Given the description of an element on the screen output the (x, y) to click on. 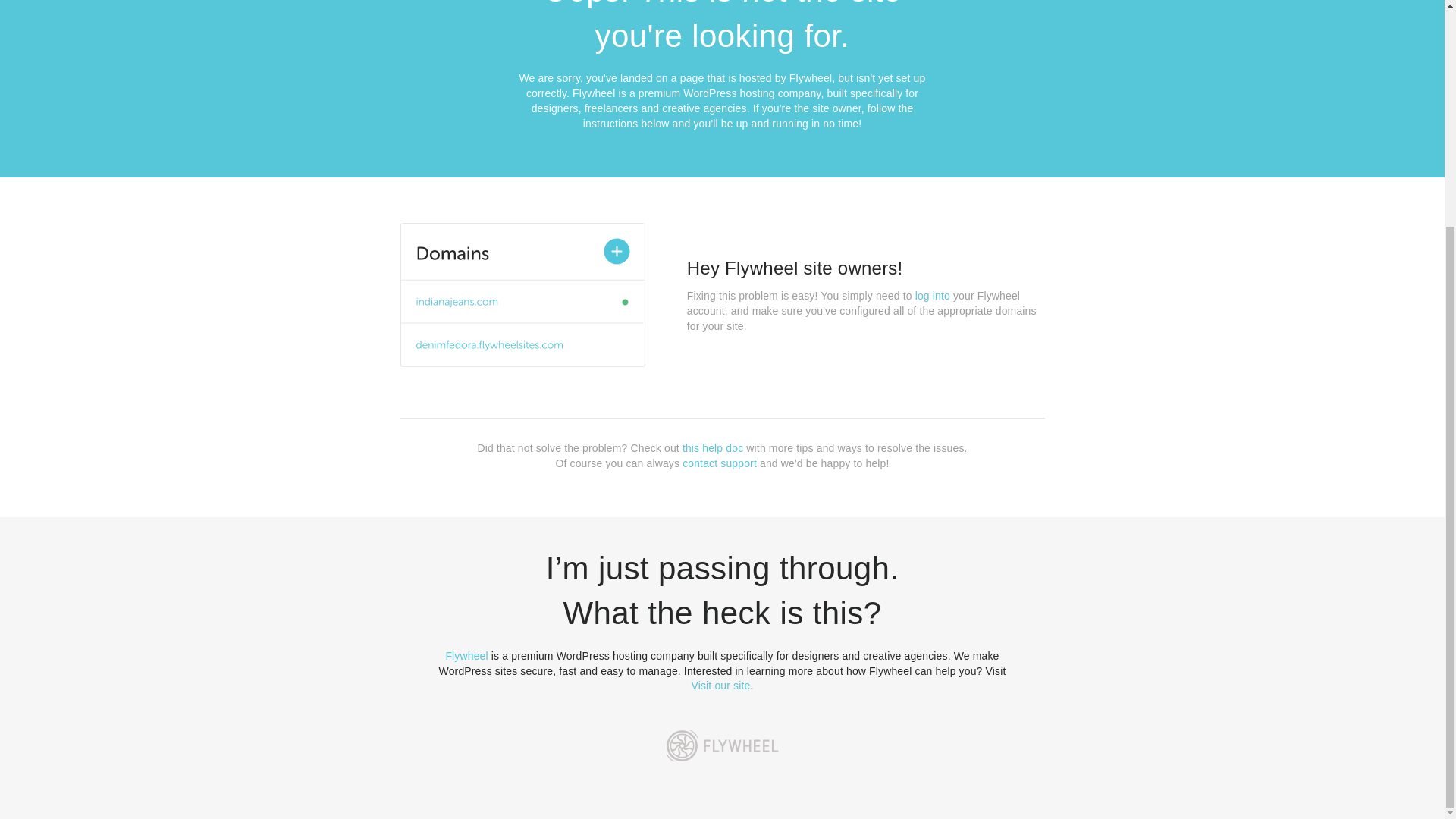
contact support (719, 463)
this help doc (712, 448)
log into (932, 295)
Visit our site (721, 685)
Flywheel (466, 655)
